Given the description of an element on the screen output the (x, y) to click on. 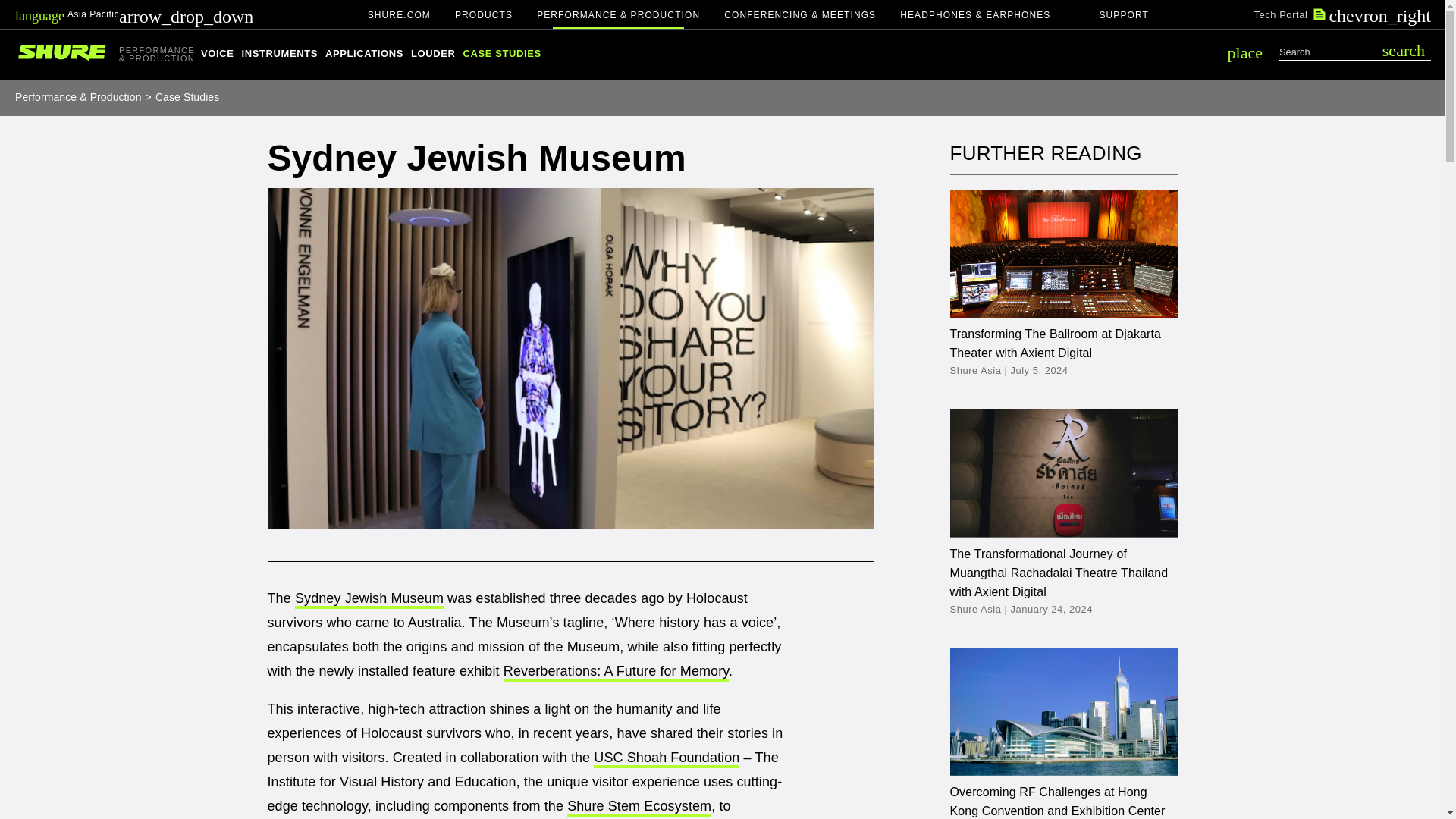
PRODUCTS (483, 14)
SUPPORT (1123, 14)
SHURE.COM (398, 14)
languageAsia Pacific (133, 13)
